Given the description of an element on the screen output the (x, y) to click on. 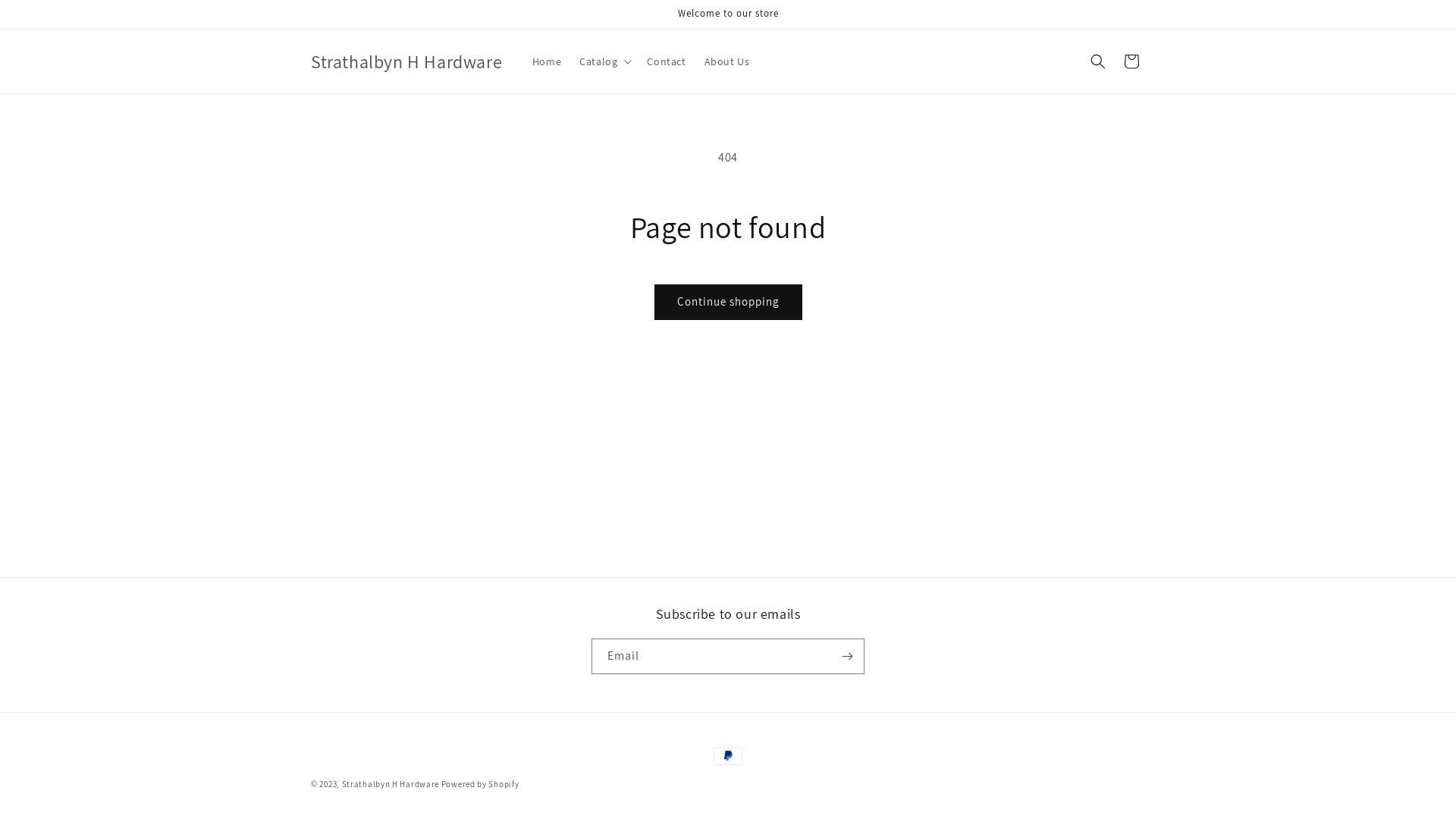
Powered by Shopify Element type: text (480, 783)
Cart Element type: text (1131, 61)
Continue shopping Element type: text (727, 302)
Strathalbyn H Hardware Element type: text (390, 783)
Contact Element type: text (665, 61)
About Us Element type: text (727, 61)
Strathalbyn H Hardware Element type: text (405, 61)
Home Element type: text (546, 61)
